Given the description of an element on the screen output the (x, y) to click on. 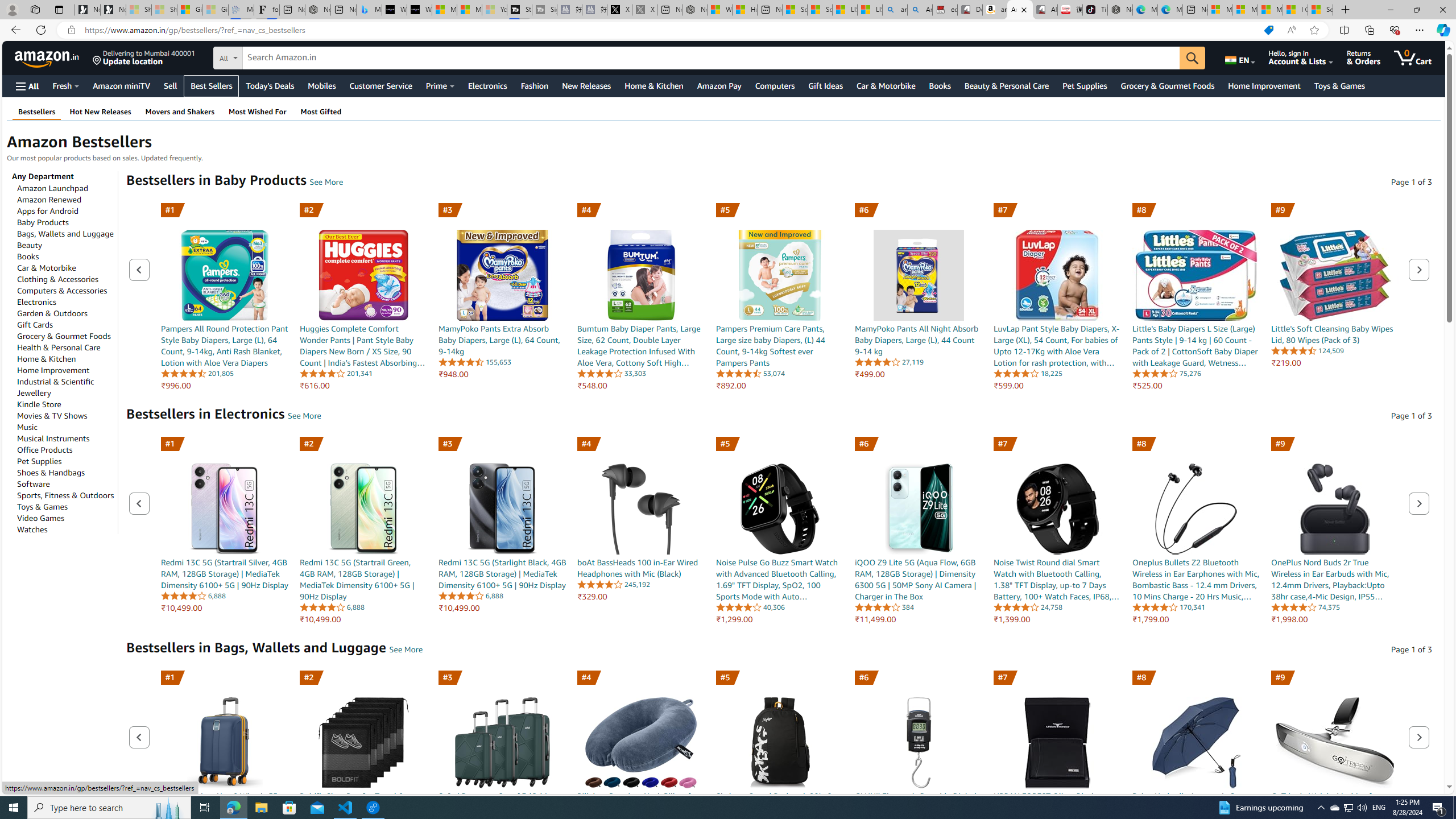
Today's Deals (269, 85)
Wildlife - MSN (718, 9)
Bestsellers (37, 111)
Prime (440, 85)
Nordace - My Account (694, 9)
boAt BassHeads 100 in-Ear Wired Headphones with Mic (Black) (640, 508)
